Given the description of an element on the screen output the (x, y) to click on. 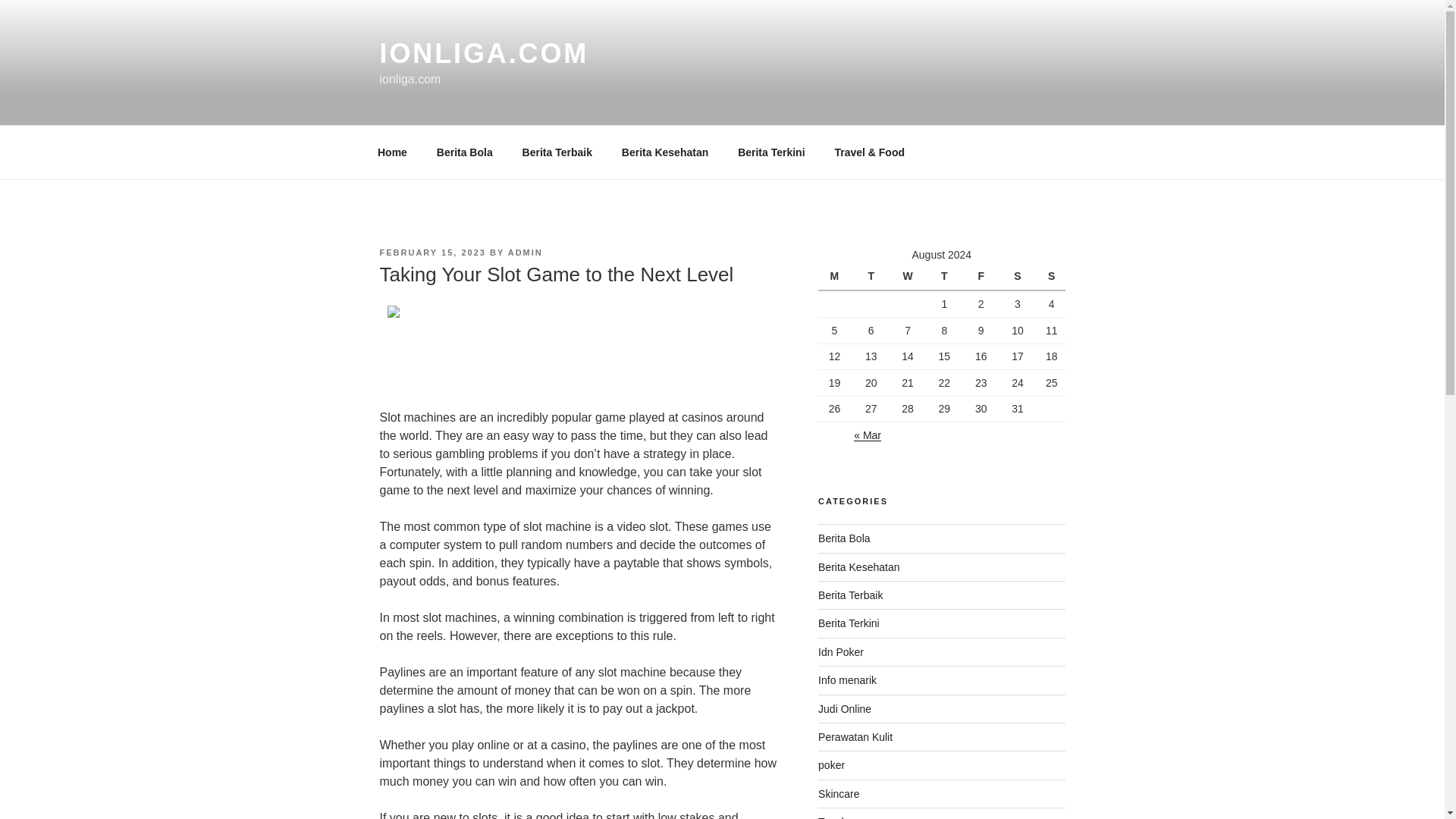
Thursday (945, 276)
Tuesday (872, 276)
IONLIGA.COM (483, 52)
Berita Terkini (771, 151)
Skincare (838, 793)
Berita Bola (843, 538)
Wednesday (909, 276)
Berita Kesehatan (858, 567)
Friday (982, 276)
ADMIN (525, 252)
